Given the description of an element on the screen output the (x, y) to click on. 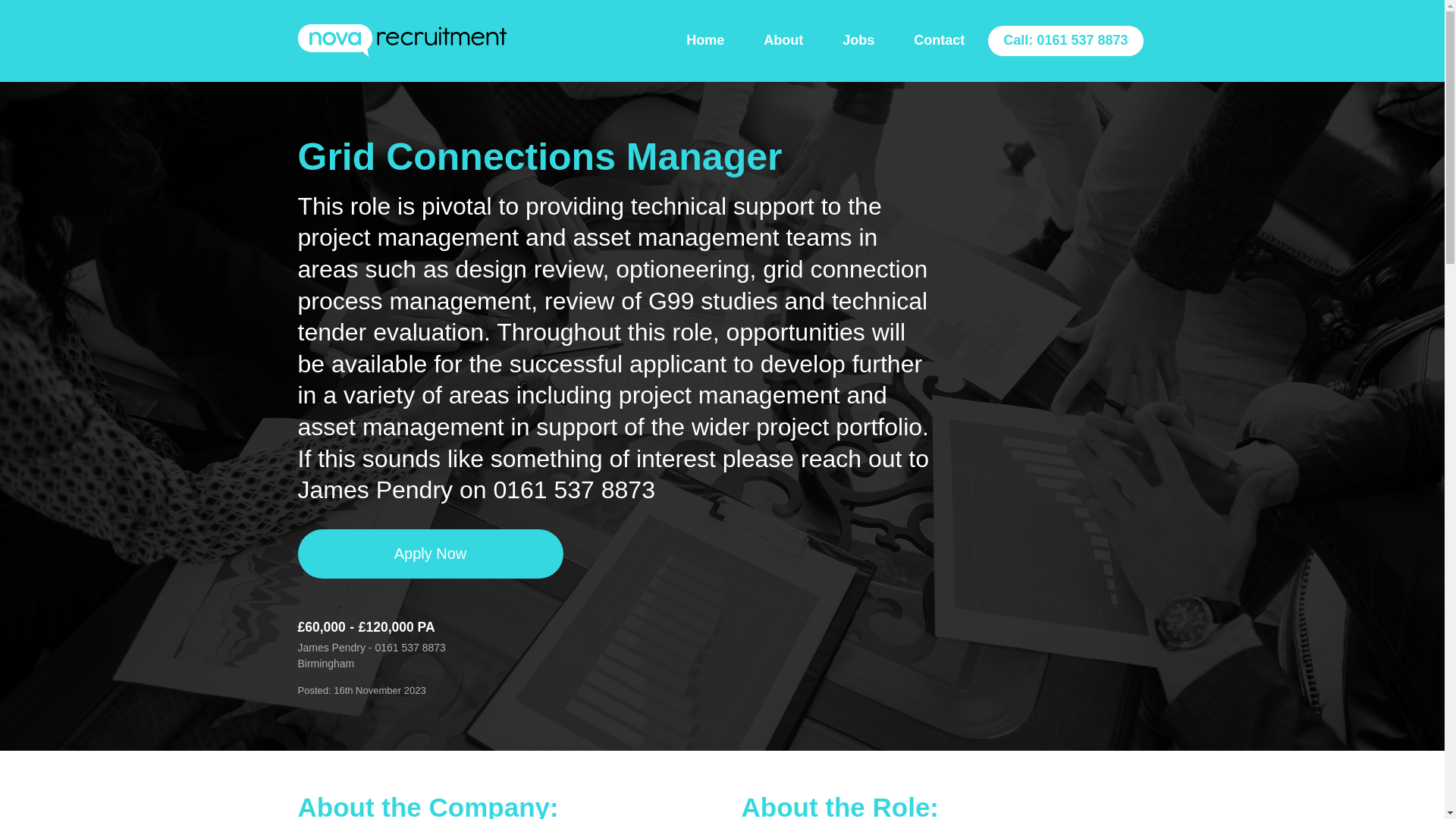
About (783, 40)
Home (705, 40)
Apply Now (429, 553)
Call: 0161 537 8873 (1065, 40)
Jobs (858, 40)
Contact (938, 40)
